Given the description of an element on the screen output the (x, y) to click on. 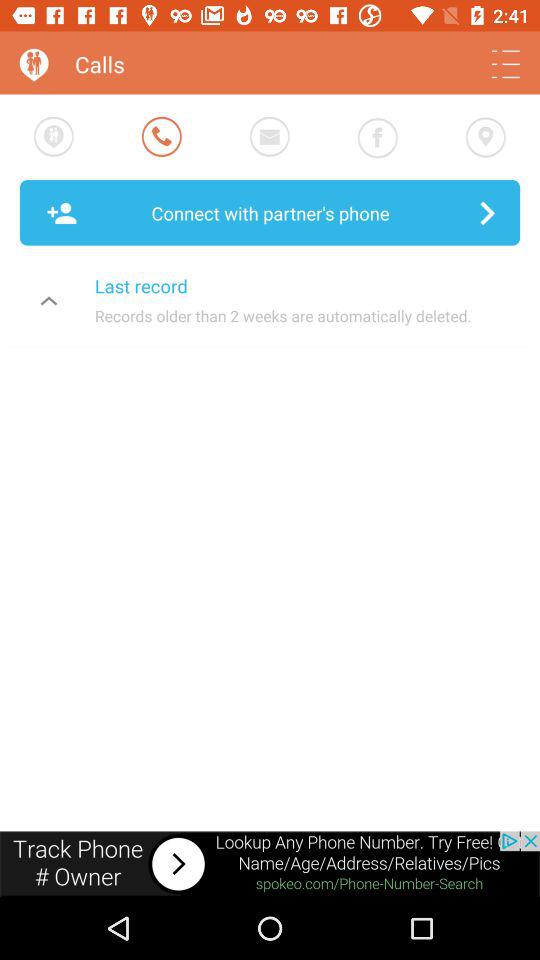
advertisement button (270, 864)
